Given the description of an element on the screen output the (x, y) to click on. 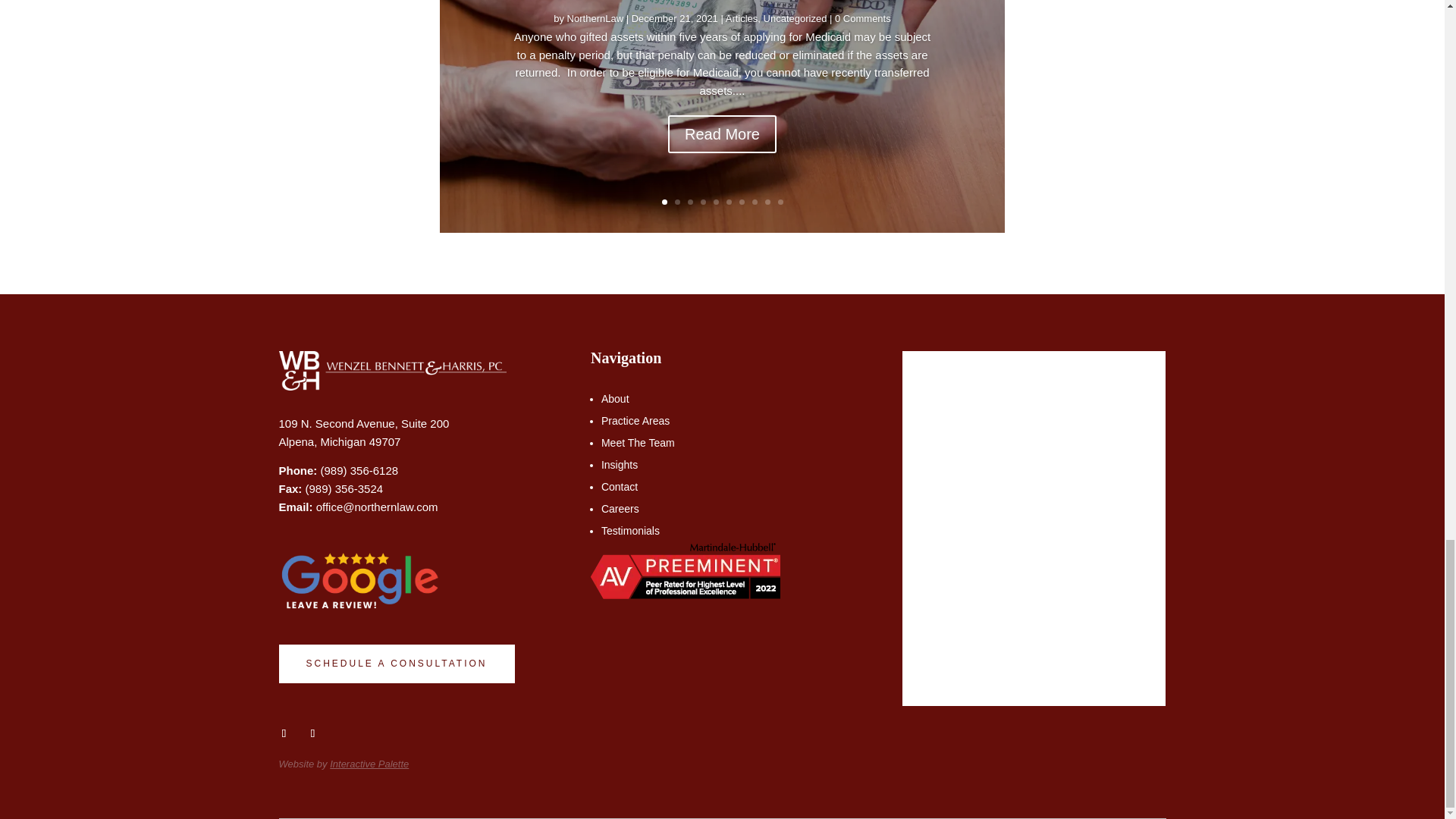
Articles (741, 51)
Uncategorized (794, 50)
Posts by NorthernLaw (595, 37)
NorthernLaw (595, 52)
Read More (722, 164)
